Given the description of an element on the screen output the (x, y) to click on. 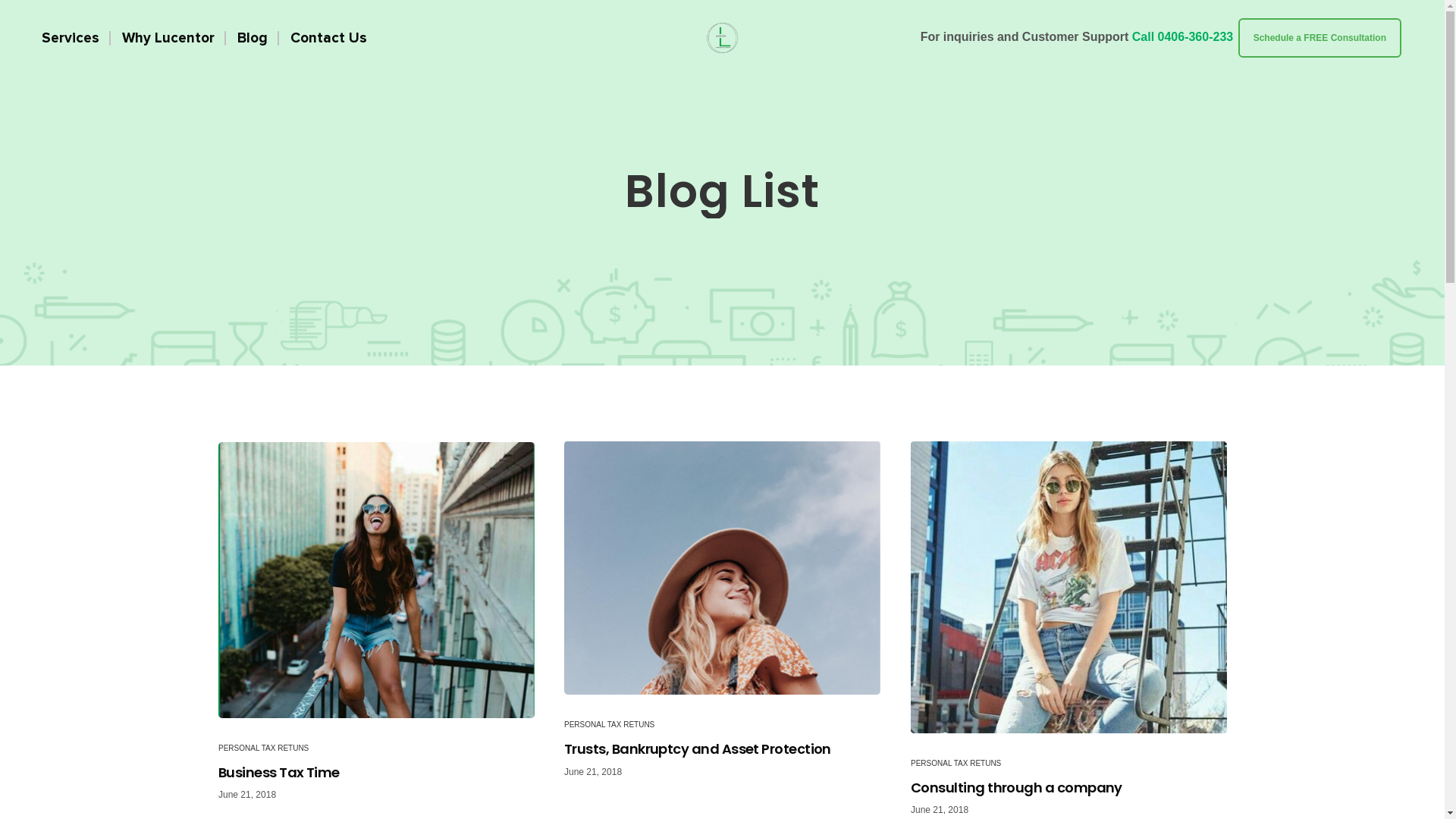
Contact Us Element type: text (328, 37)
Trusts, Bankruptcy and Asset Protection Element type: hover (722, 567)
Schedule a FREE Consultation Element type: text (1319, 37)
PERSONAL TAX RETUNS Element type: text (955, 762)
Blog Element type: text (688, 673)
Consulting through a company Element type: hover (1068, 587)
Services Element type: text (698, 642)
Call 0406-360-233 Element type: text (1182, 36)
SUBSCRIBE Element type: text (1111, 713)
Why Lucentor Element type: text (168, 37)
Trusts, Bankruptcy and Asset Protection Element type: text (722, 748)
Business Tax Time Element type: hover (376, 579)
Consulting through a company Element type: text (1068, 786)
Blog Element type: text (252, 37)
PERSONAL TAX RETUNS Element type: text (609, 724)
Why Lucentor Element type: text (714, 611)
Contact us Element type: text (706, 703)
Services Element type: text (70, 37)
Lucentor Element type: hover (722, 37)
PERSONAL TAX RETUNS Element type: text (263, 747)
Business Tax Time Element type: text (376, 772)
Schedule a FREE Consultation Element type: text (1319, 36)
